Given the description of an element on the screen output the (x, y) to click on. 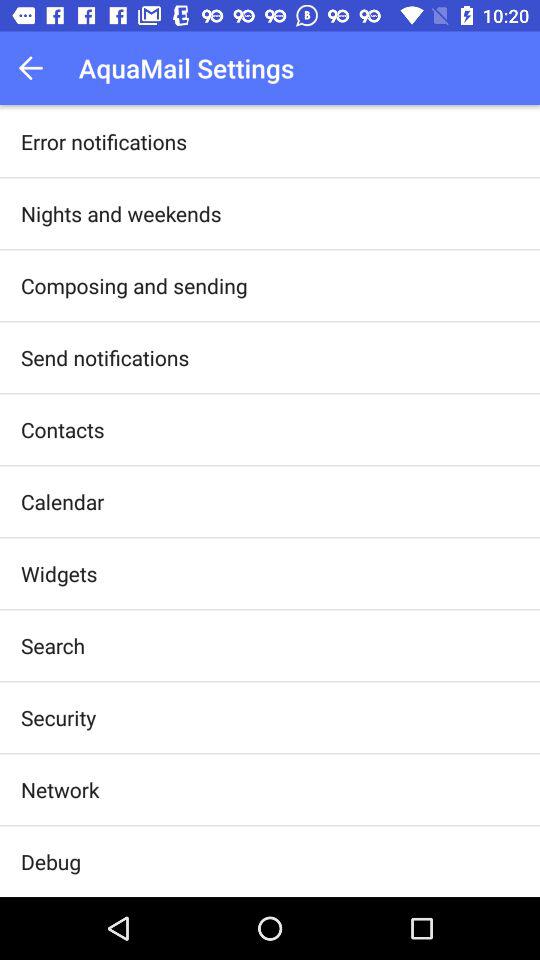
turn off the item above composing and sending (121, 213)
